Given the description of an element on the screen output the (x, y) to click on. 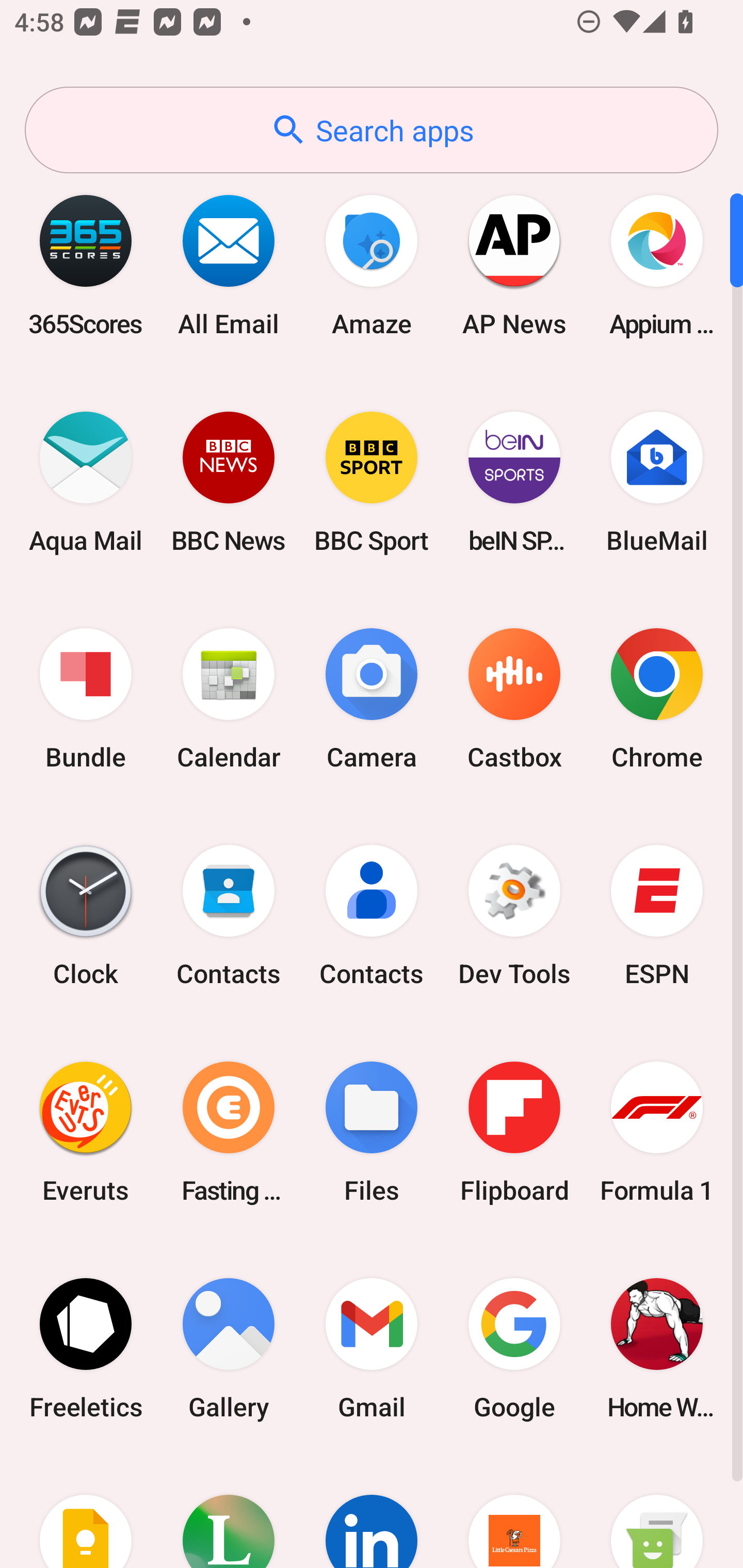
  Search apps (371, 130)
365Scores (85, 264)
All Email (228, 264)
Amaze (371, 264)
AP News (514, 264)
Appium Settings (656, 264)
Aqua Mail (85, 482)
BBC News (228, 482)
BBC Sport (371, 482)
beIN SPORTS (514, 482)
BlueMail (656, 482)
Bundle (85, 699)
Calendar (228, 699)
Camera (371, 699)
Castbox (514, 699)
Chrome (656, 699)
Clock (85, 915)
Contacts (228, 915)
Contacts (371, 915)
Dev Tools (514, 915)
ESPN (656, 915)
Everuts (85, 1131)
Fasting Coach (228, 1131)
Files (371, 1131)
Flipboard (514, 1131)
Formula 1 (656, 1131)
Freeletics (85, 1348)
Gallery (228, 1348)
Gmail (371, 1348)
Google (514, 1348)
Home Workout (656, 1348)
Keep Notes (85, 1512)
Lifesum (228, 1512)
LinkedIn (371, 1512)
Little Caesars Pizza (514, 1512)
Messaging (656, 1512)
